Given the description of an element on the screen output the (x, y) to click on. 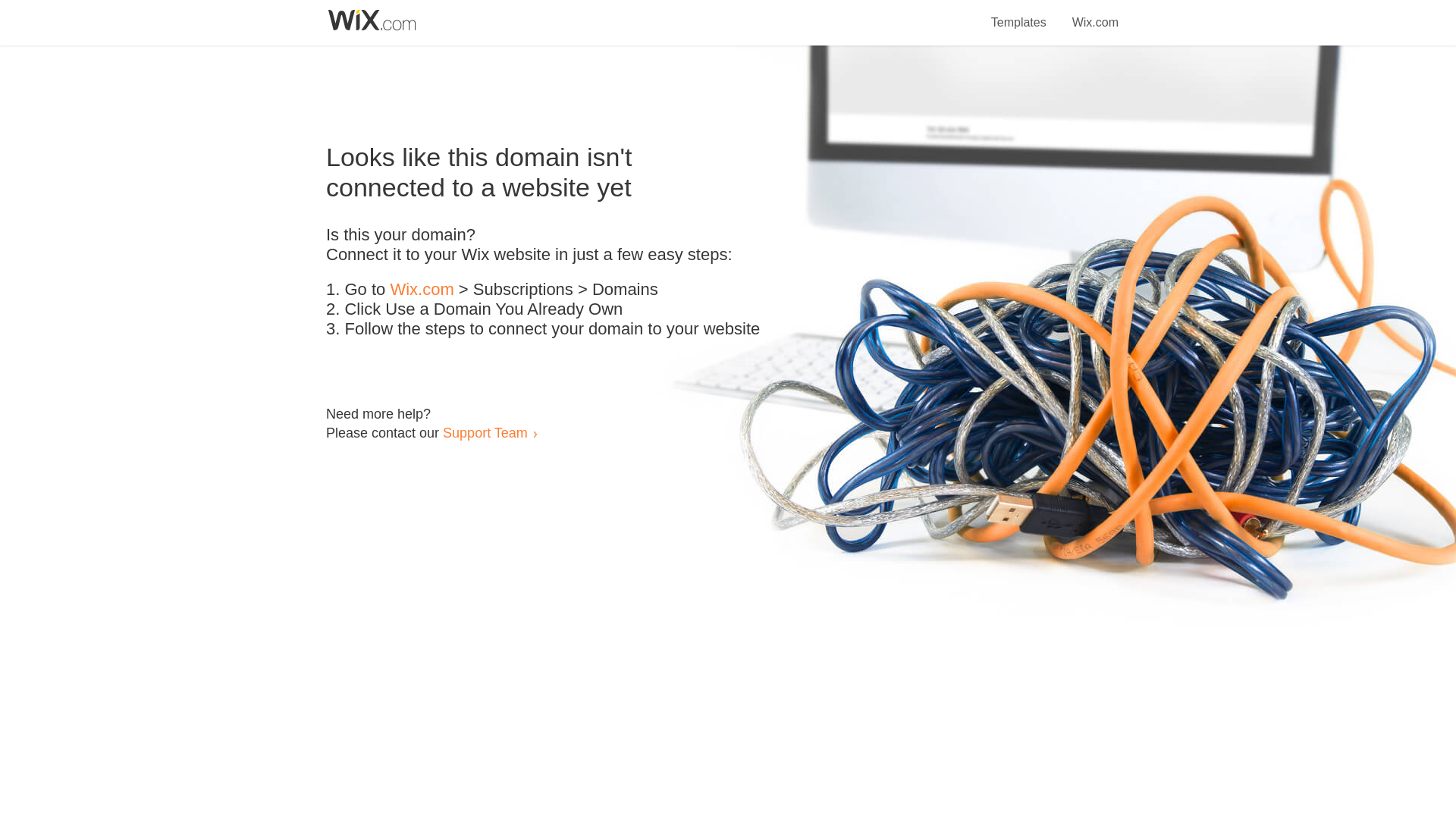
Support Team (484, 432)
Templates (1018, 14)
Wix.com (421, 289)
Wix.com (1095, 14)
